Given the description of an element on the screen output the (x, y) to click on. 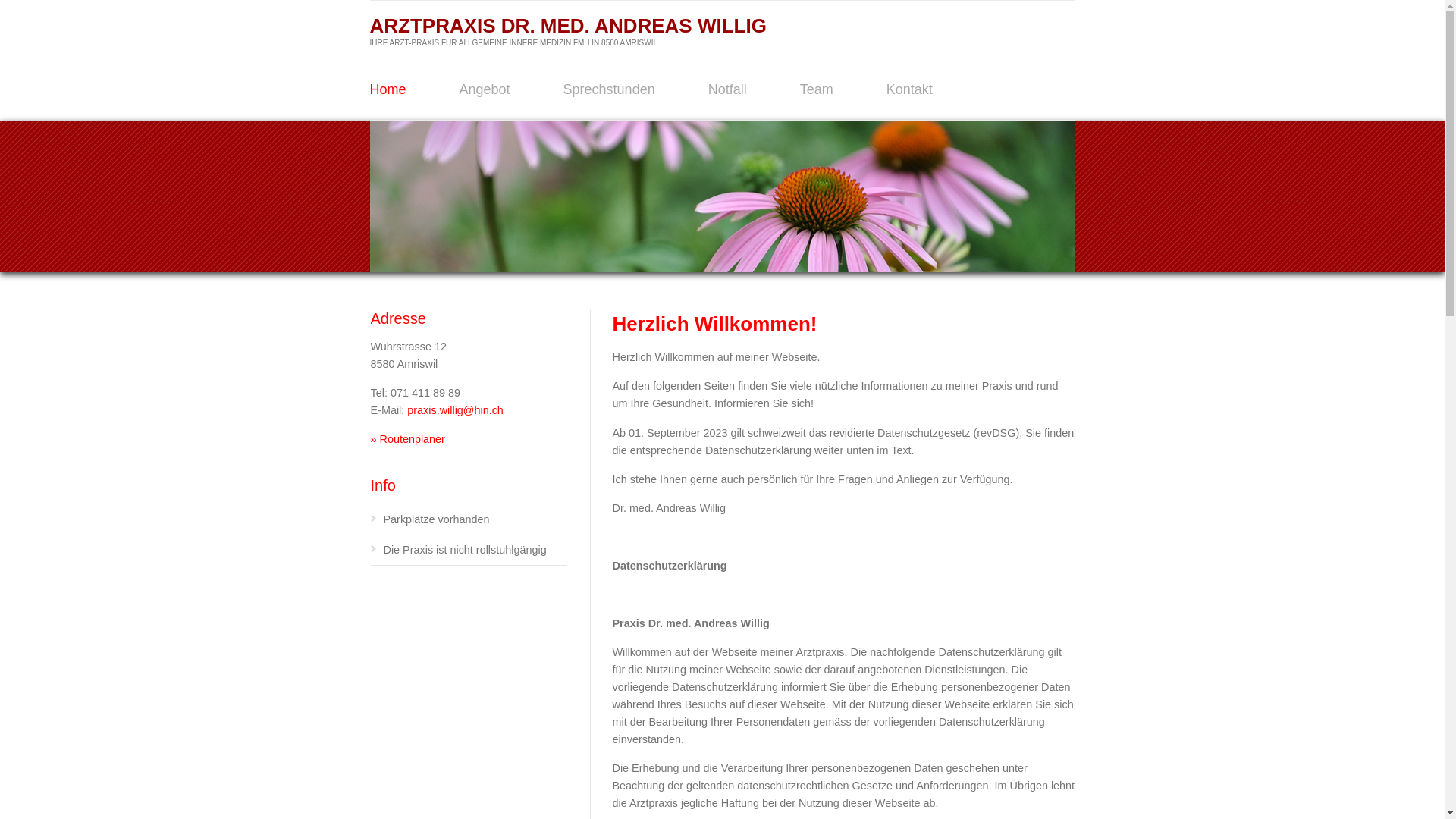
Kontakt Element type: text (909, 89)
Sprechstunden Element type: text (609, 89)
Home Element type: text (388, 89)
Notfall Element type: text (727, 89)
ARZTPRAXIS DR. MED. ANDREAS WILLIG Element type: text (568, 25)
praxis.willig@hin.ch Element type: text (455, 410)
Angebot Element type: text (484, 89)
Team Element type: text (816, 89)
